Given the description of an element on the screen output the (x, y) to click on. 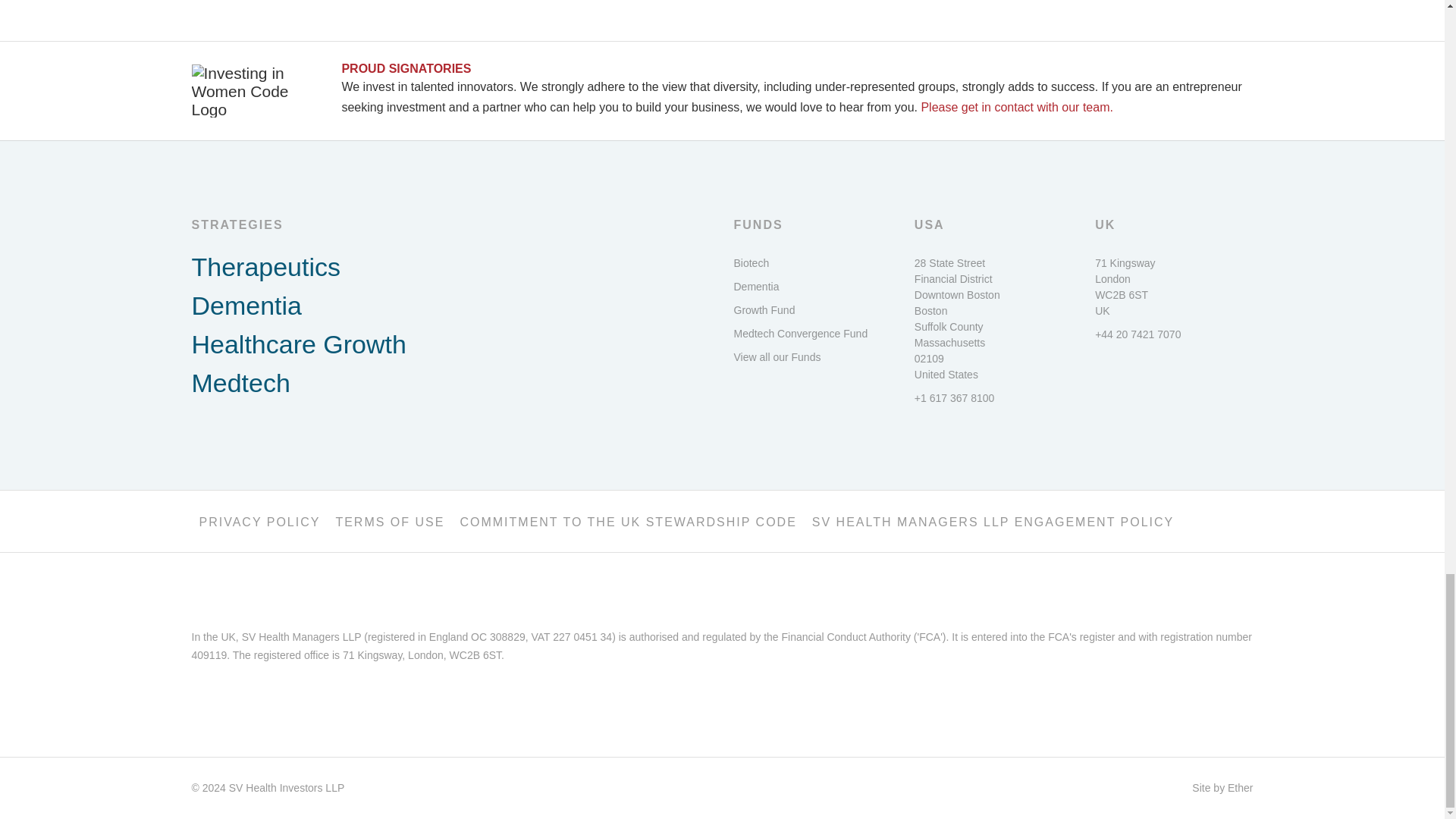
Dementia (812, 286)
Biotech (812, 263)
PRIVACY POLICY (258, 521)
Therapeutics (450, 267)
COMMITMENT TO THE UK STEWARDSHIP CODE (627, 521)
Please get in contact with our team. (1016, 106)
Growth Fund (812, 310)
Dementia (450, 305)
Medtech Convergence Fund (812, 333)
